Given the description of an element on the screen output the (x, y) to click on. 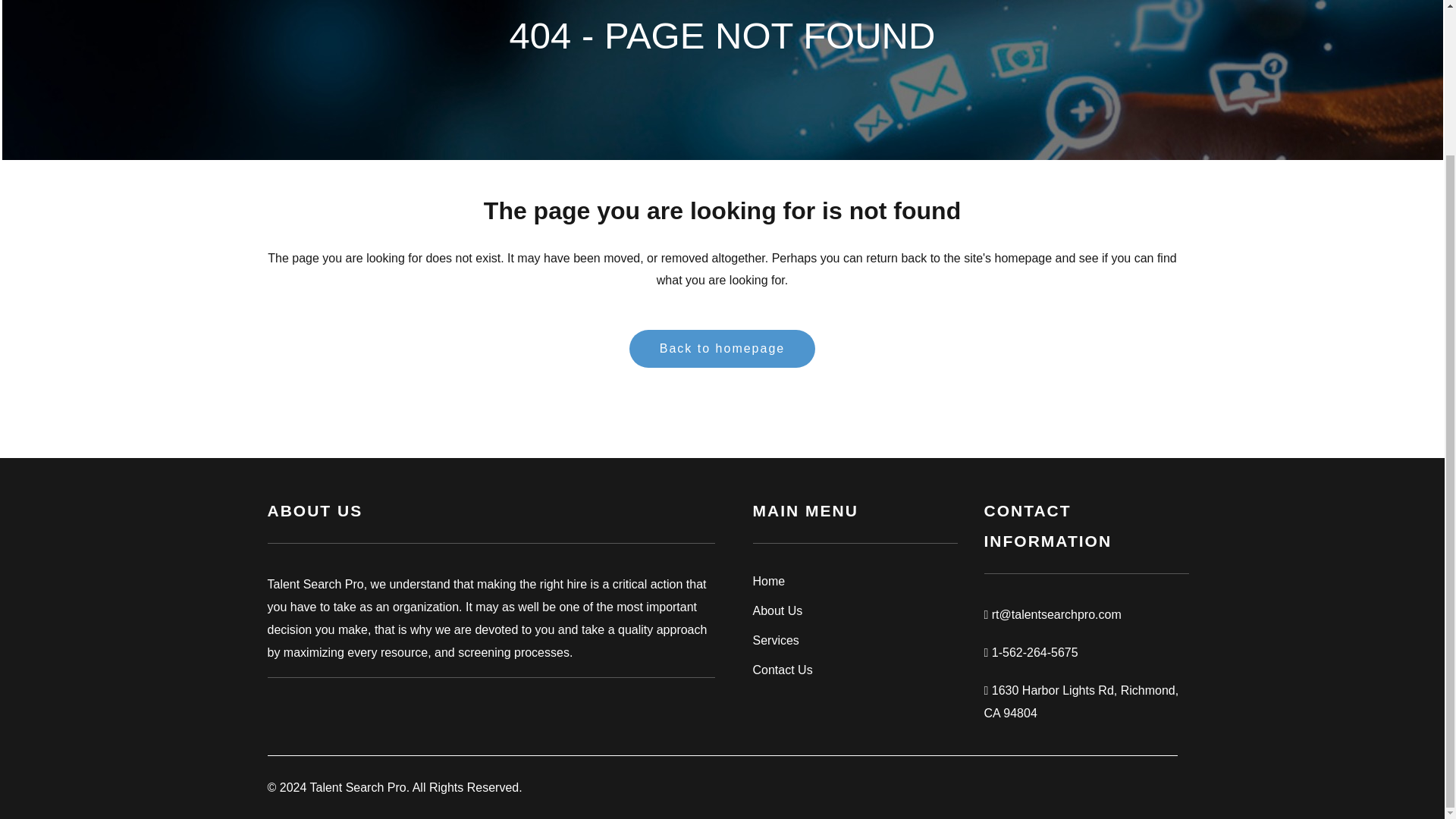
Contact Us (854, 669)
Home (854, 581)
Back to homepage (721, 348)
Services (854, 640)
About Us (854, 610)
